Given the description of an element on the screen output the (x, y) to click on. 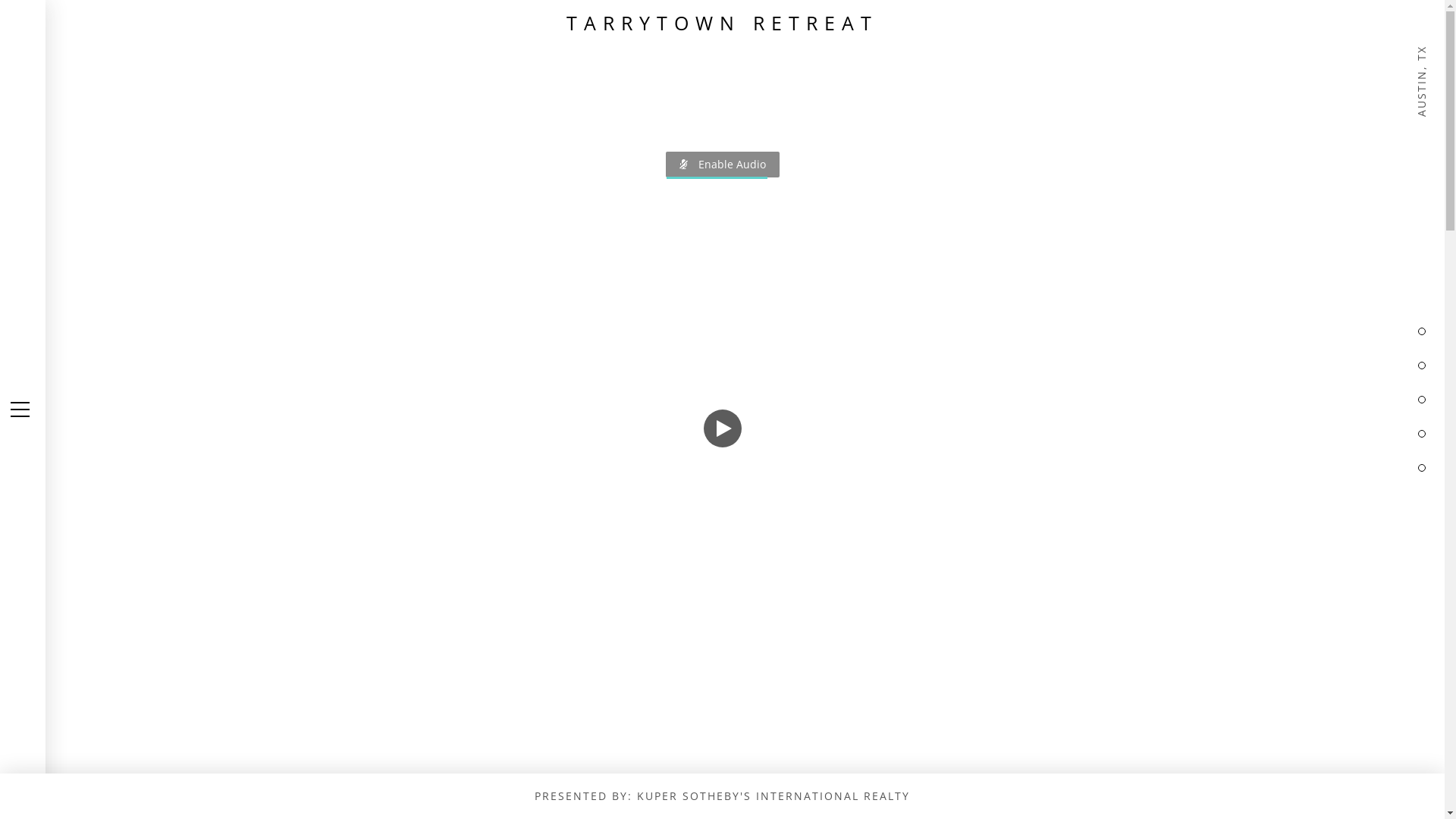
Listing Video Element type: hover (722, 409)
